Given the description of an element on the screen output the (x, y) to click on. 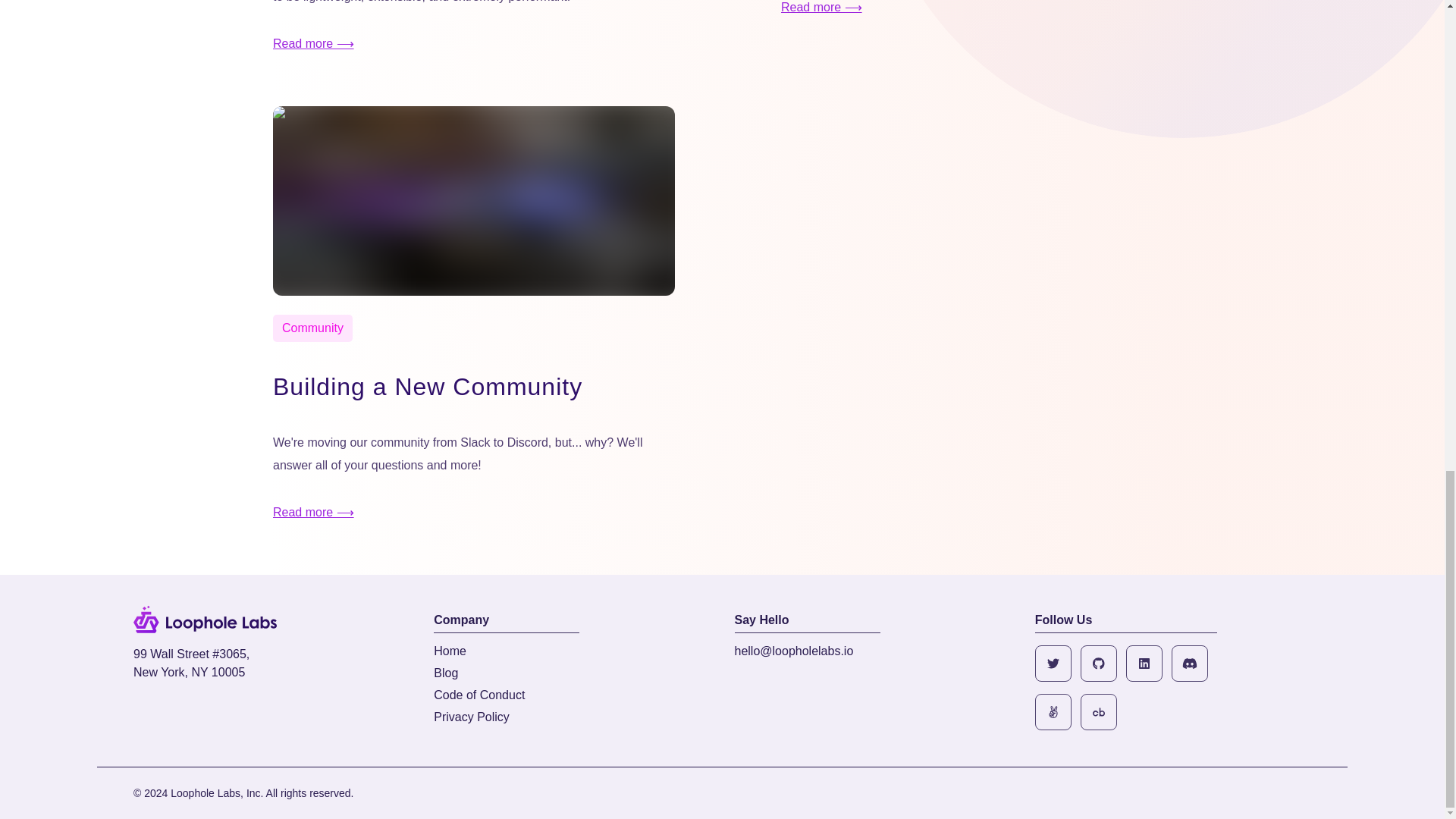
Privacy Policy (471, 717)
Blog (445, 673)
Building a New Community Header Image (474, 200)
Code of Conduct (478, 695)
Home (449, 651)
